Given the description of an element on the screen output the (x, y) to click on. 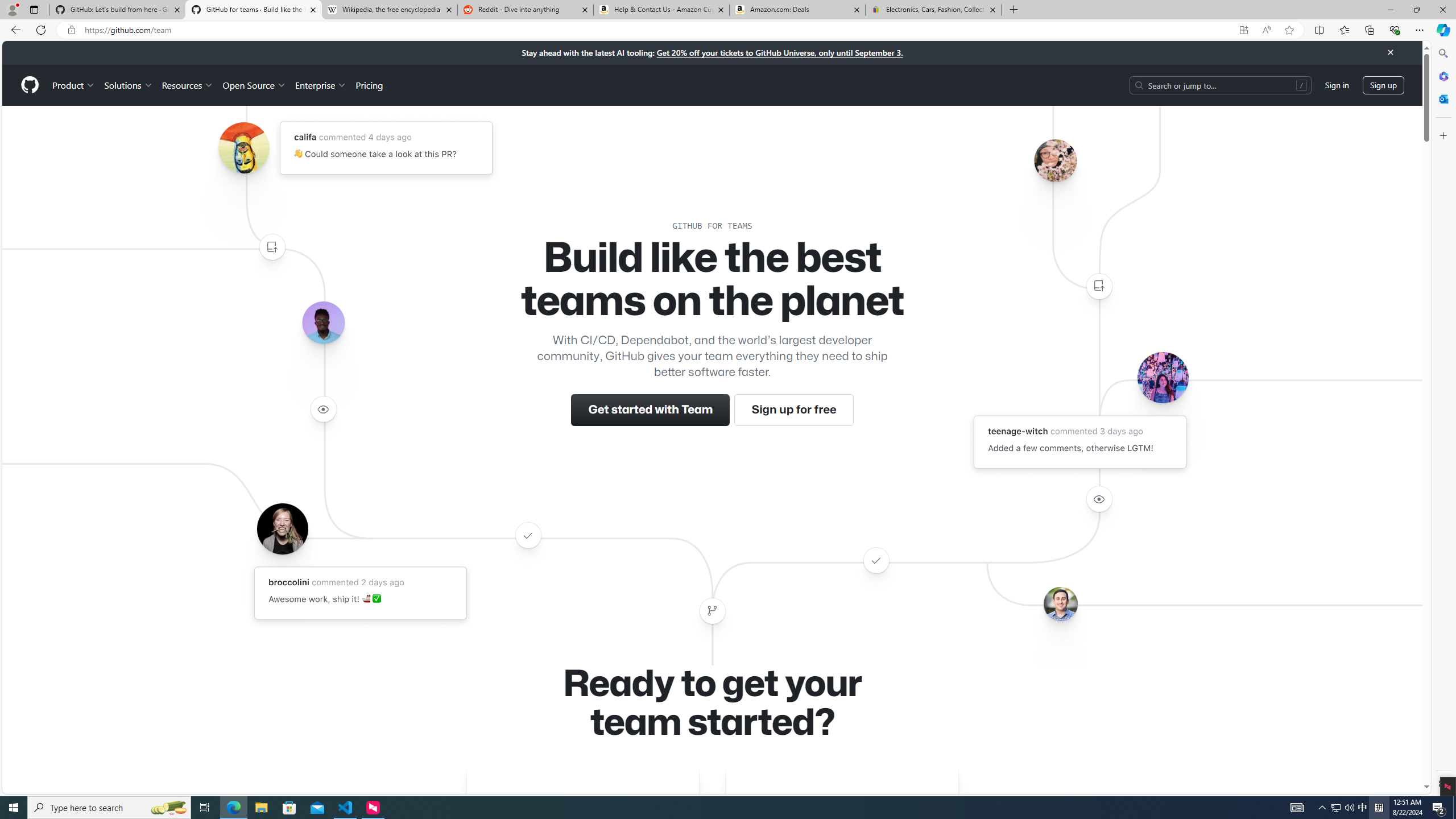
Wikipedia, the free encyclopedia (390, 9)
Enterprise (319, 84)
Avatar of the user ohjoycelau (1054, 159)
App available. Install GitHub (1243, 29)
Avatar of the user califa (243, 147)
Amazon.com: Deals (797, 9)
Sign up for free (793, 409)
